Given the description of an element on the screen output the (x, y) to click on. 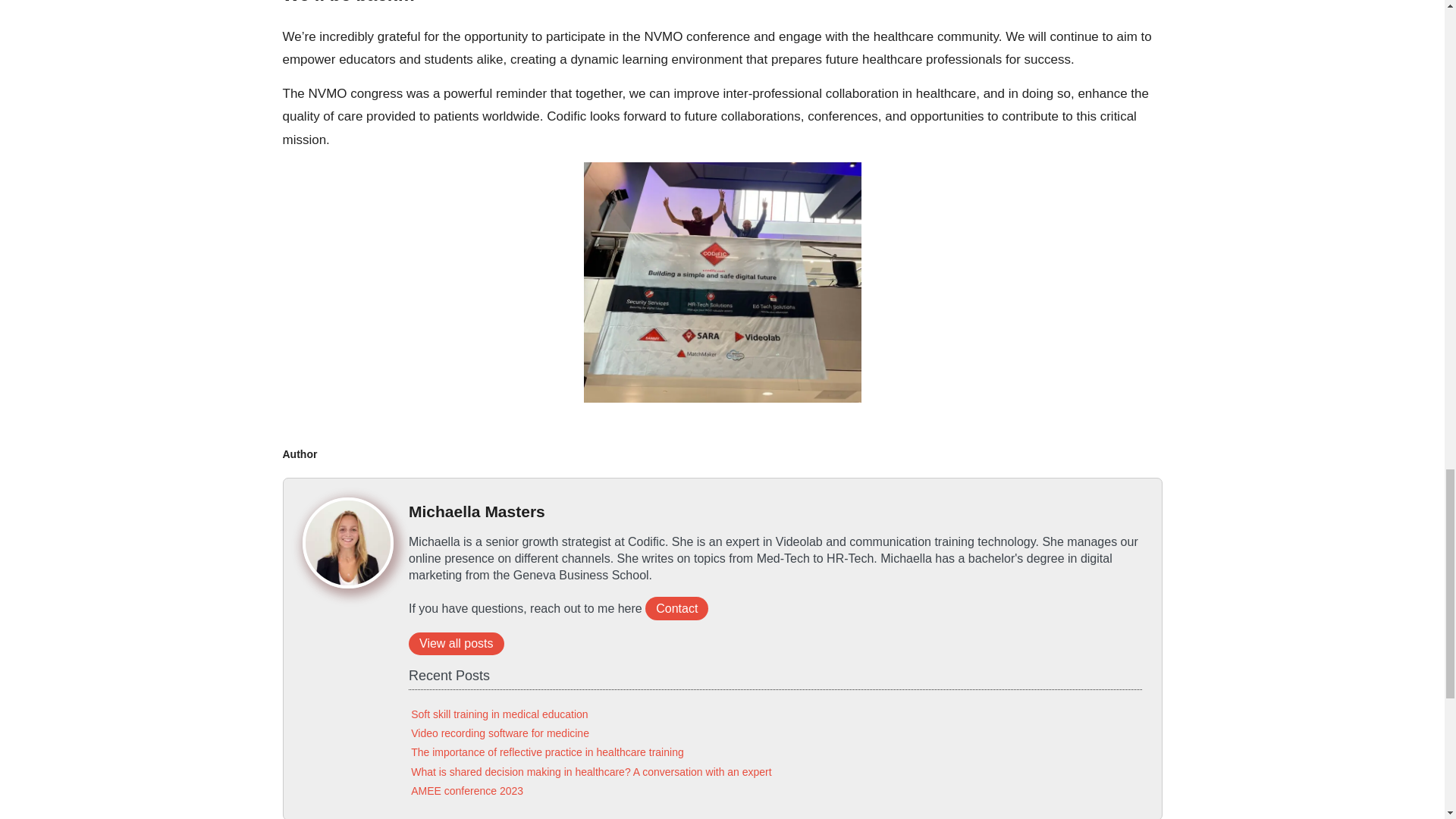
AMEE conference 2023 (466, 790)
Video recording software for medicine (499, 733)
View all posts (456, 643)
Michaella Masters (476, 511)
The importance of reflective practice in healthcare training (547, 752)
Soft skill training in medical education (499, 714)
